Given the description of an element on the screen output the (x, y) to click on. 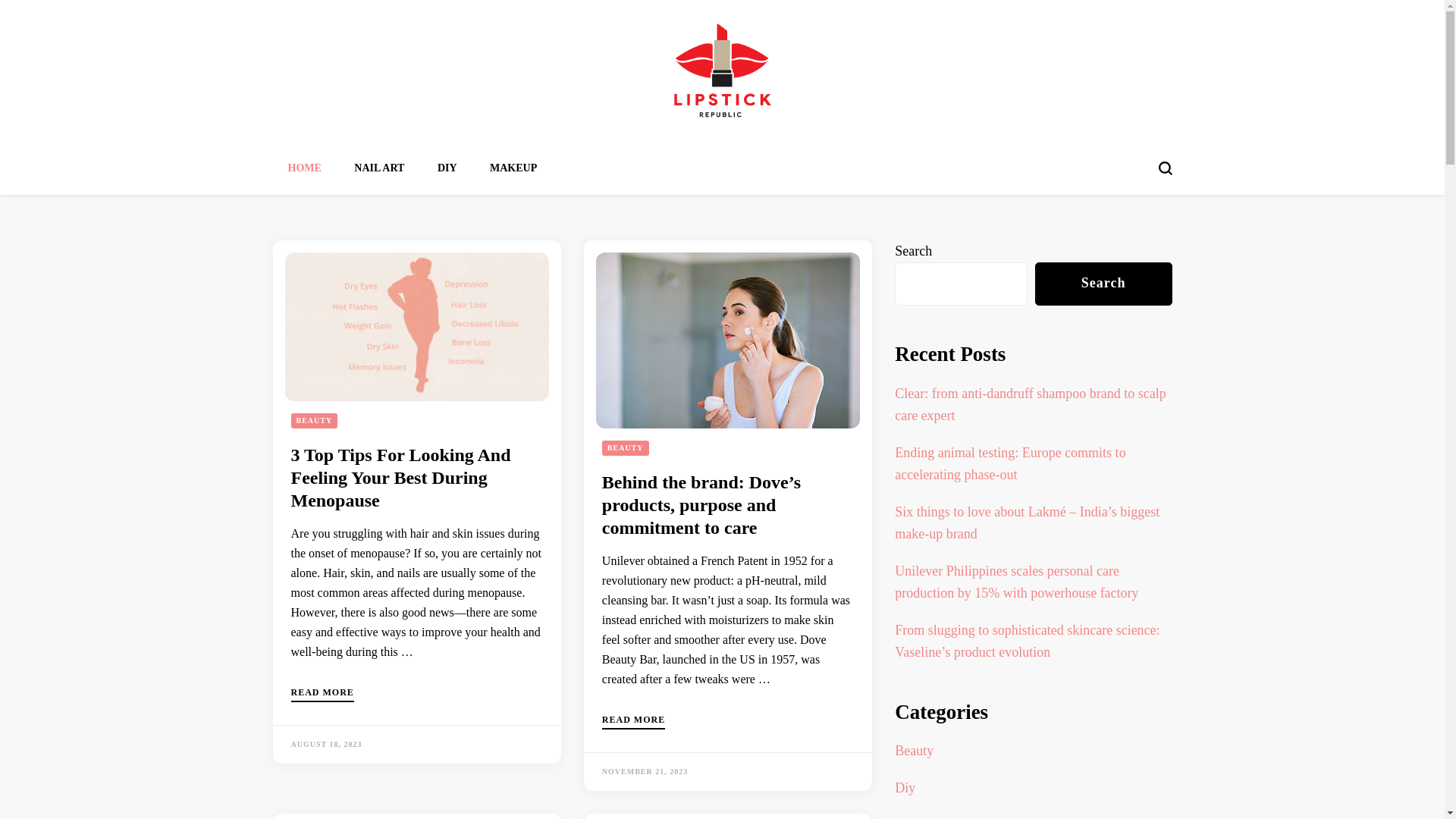
NAIL ART Element type: text (379, 167)
Clear: from anti-dandruff shampoo brand to scalp care expert Element type: text (1030, 404)
Beauty Element type: text (913, 750)
NOVEMBER 21, 2023 Element type: text (644, 771)
DIY Element type: text (447, 167)
Search Element type: text (1103, 283)
READ MORE Element type: text (322, 694)
READ MORE Element type: text (633, 722)
HOME Element type: text (304, 167)
BEAUTY Element type: text (314, 420)
Diy Element type: text (904, 787)
BEAUTY Element type: text (625, 447)
AUGUST 18, 2023 Element type: text (326, 744)
MAKEUP Element type: text (512, 167)
